Given the description of an element on the screen output the (x, y) to click on. 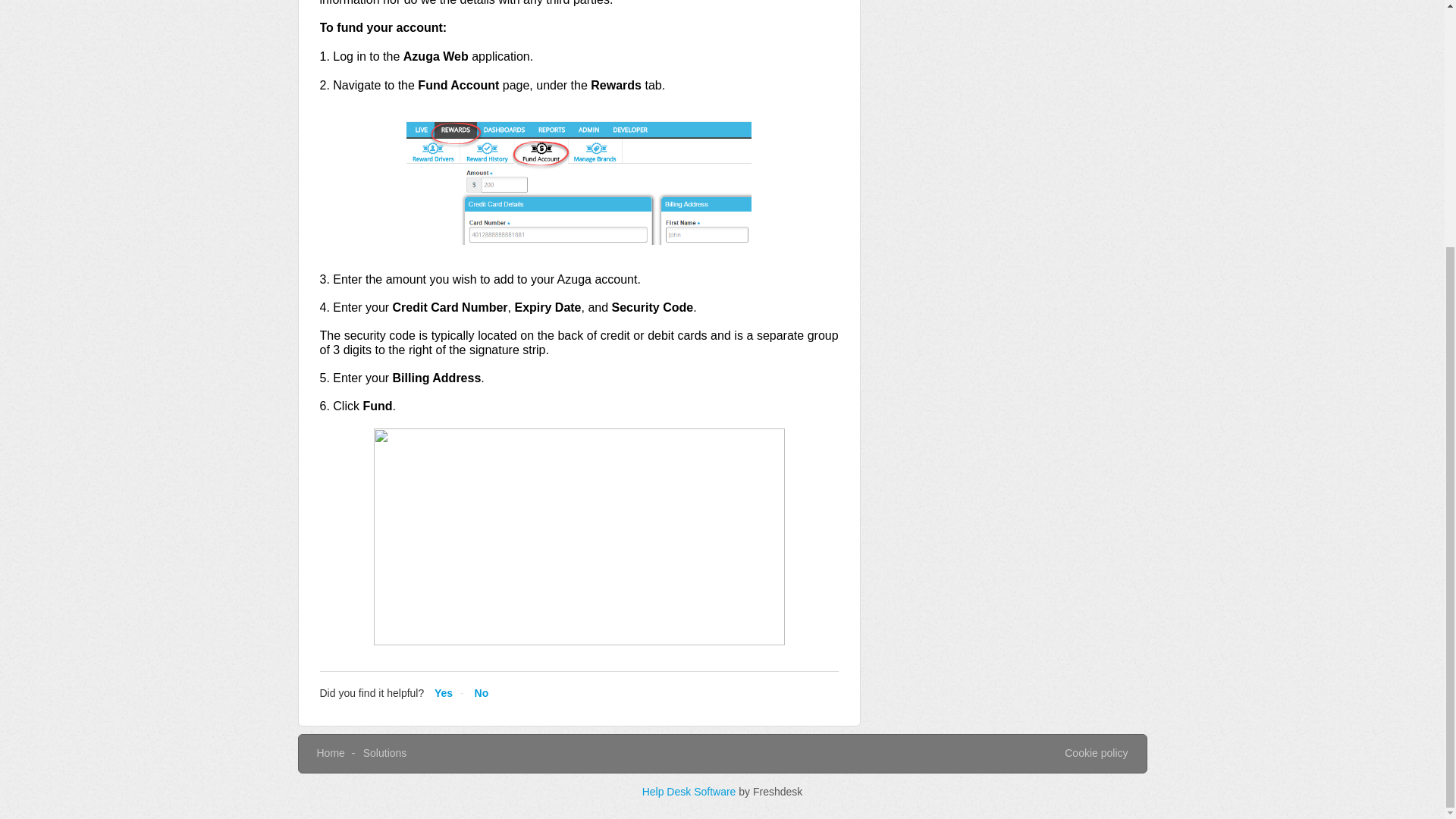
Help Desk Software (690, 791)
Why we love Cookies (1095, 753)
Solutions (384, 752)
Cookie policy (1095, 753)
Home (331, 752)
